Given the description of an element on the screen output the (x, y) to click on. 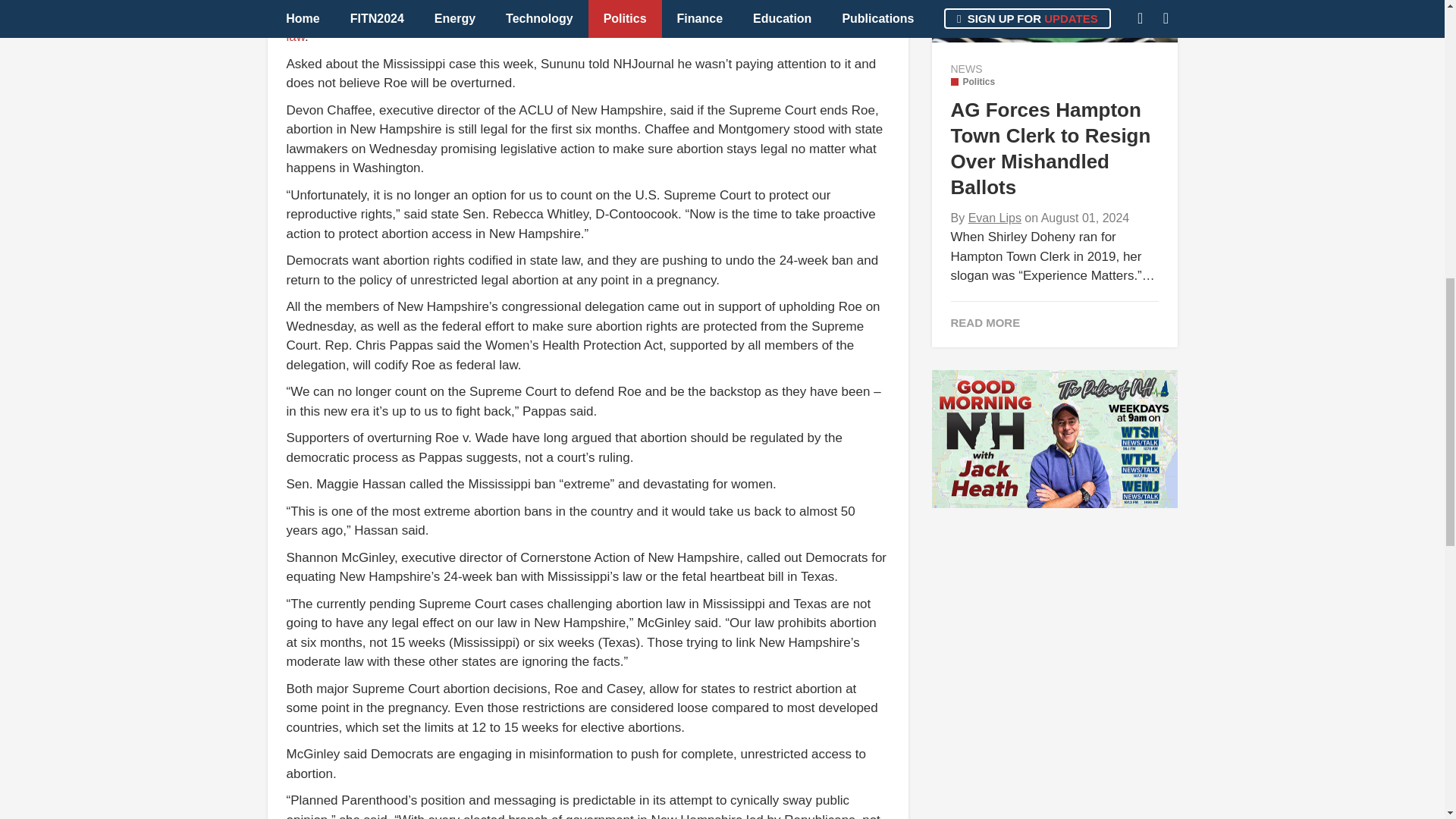
the group says in a fact sheet on the new law (578, 27)
View all posts in Politics (972, 81)
Posts by Evan Lips (995, 217)
